Given the description of an element on the screen output the (x, y) to click on. 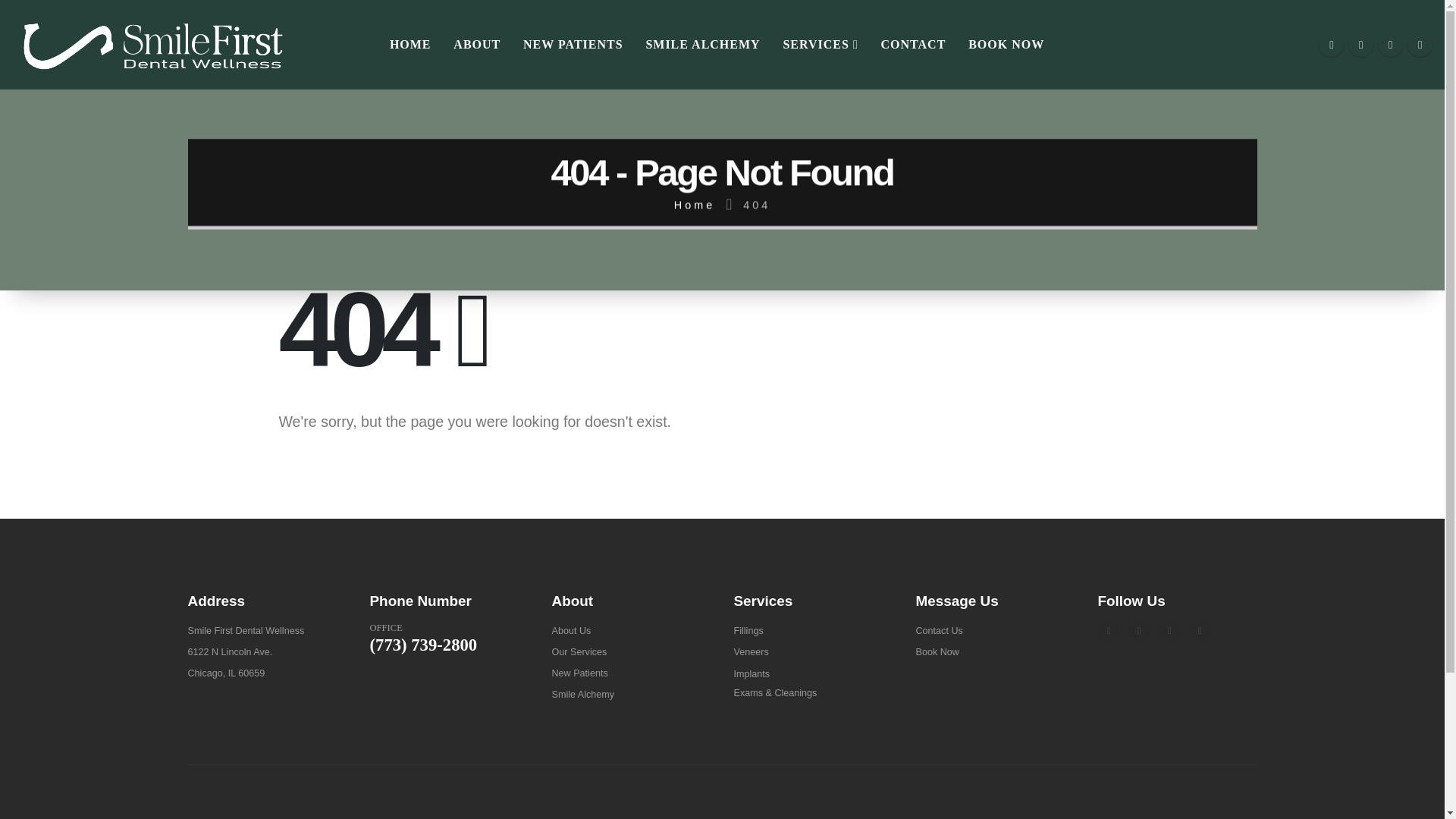
Youtube (1139, 630)
SERVICES (820, 44)
Instagram (1169, 630)
Smile First -  (153, 44)
NEW PATIENTS (572, 44)
Home (694, 253)
Facebook (1331, 43)
Yelp (1200, 630)
Instagram (1390, 43)
CONTACT (912, 44)
SMILE ALCHEMY (702, 44)
Go to Home Page (694, 219)
Youtube (1360, 43)
BOOK NOW (1006, 44)
Facebook (1108, 630)
